Given the description of an element on the screen output the (x, y) to click on. 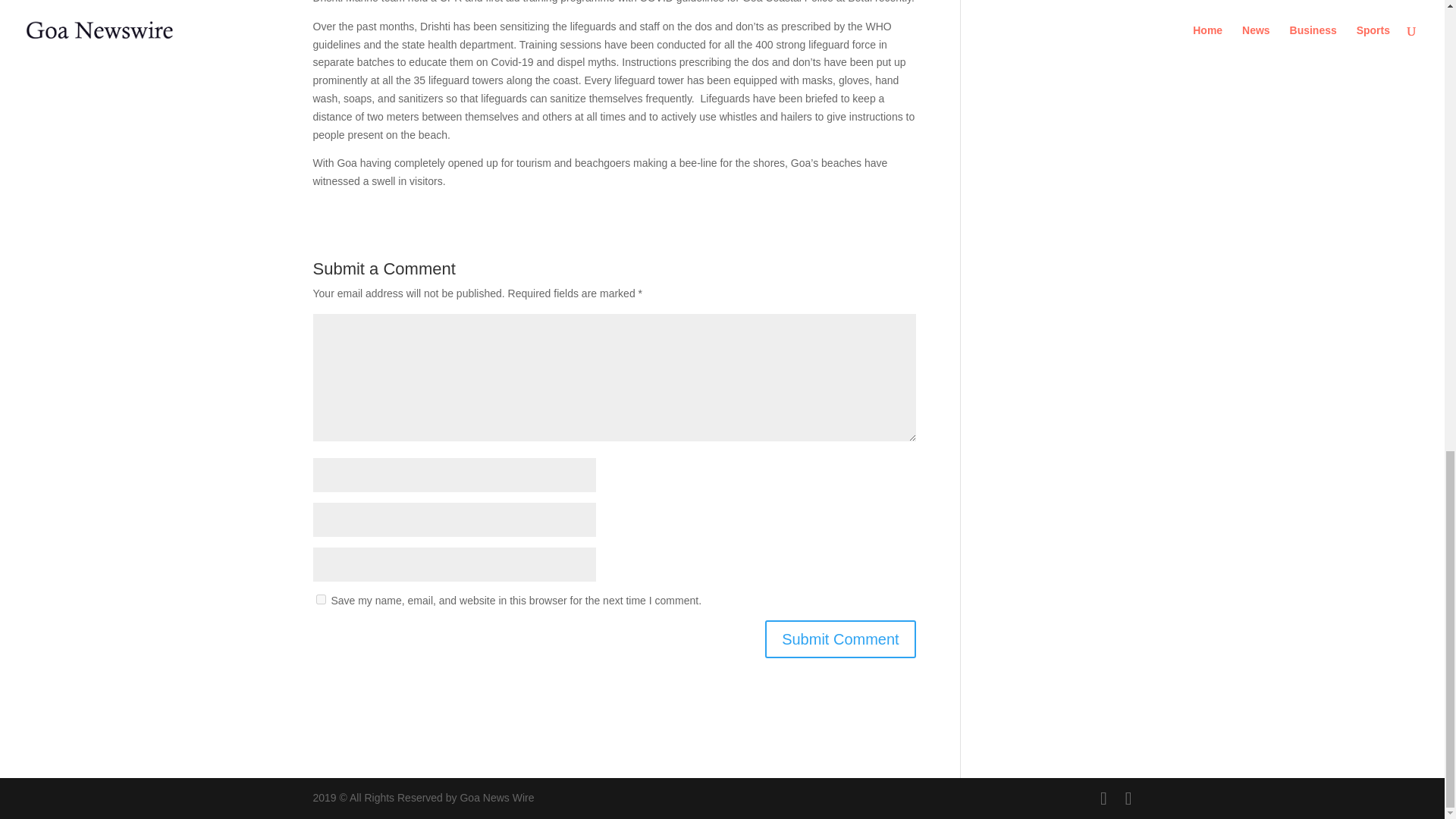
yes (319, 599)
Submit Comment (840, 638)
Submit Comment (840, 638)
